Given the description of an element on the screen output the (x, y) to click on. 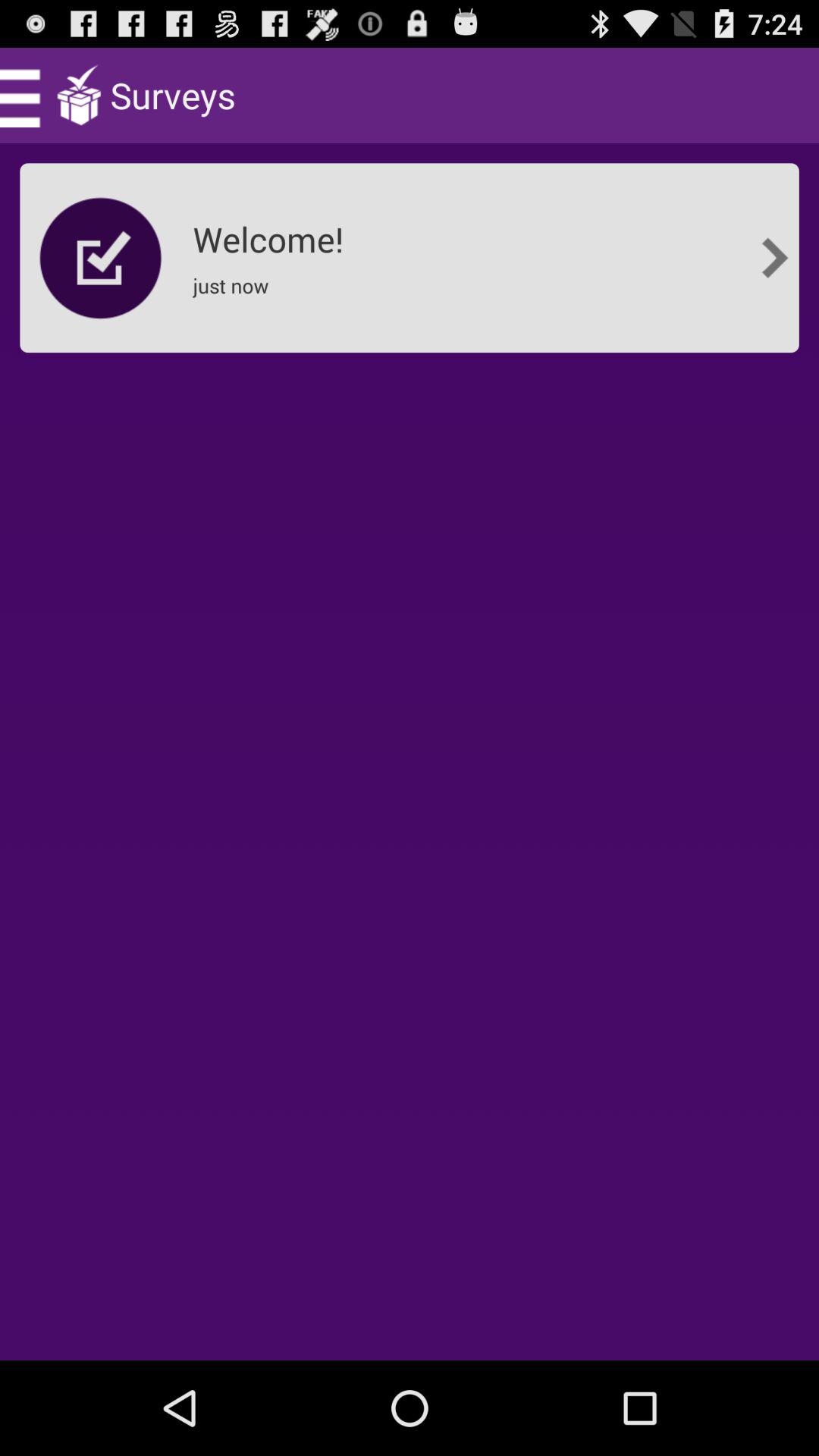
swipe until the just now item (235, 295)
